Given the description of an element on the screen output the (x, y) to click on. 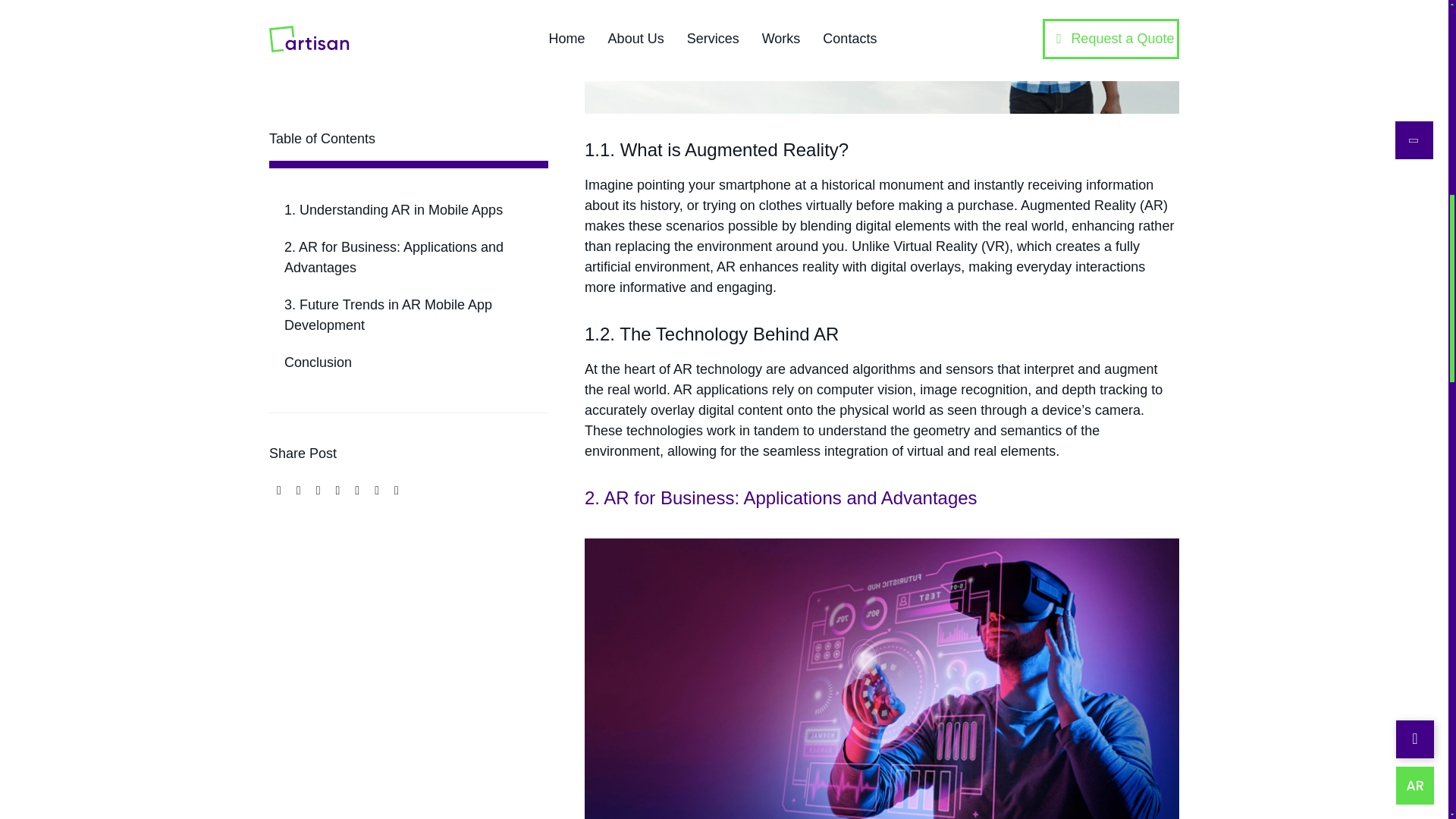
augmented-reality-ar-in-mobile-app-development-1 (882, 56)
